Given the description of an element on the screen output the (x, y) to click on. 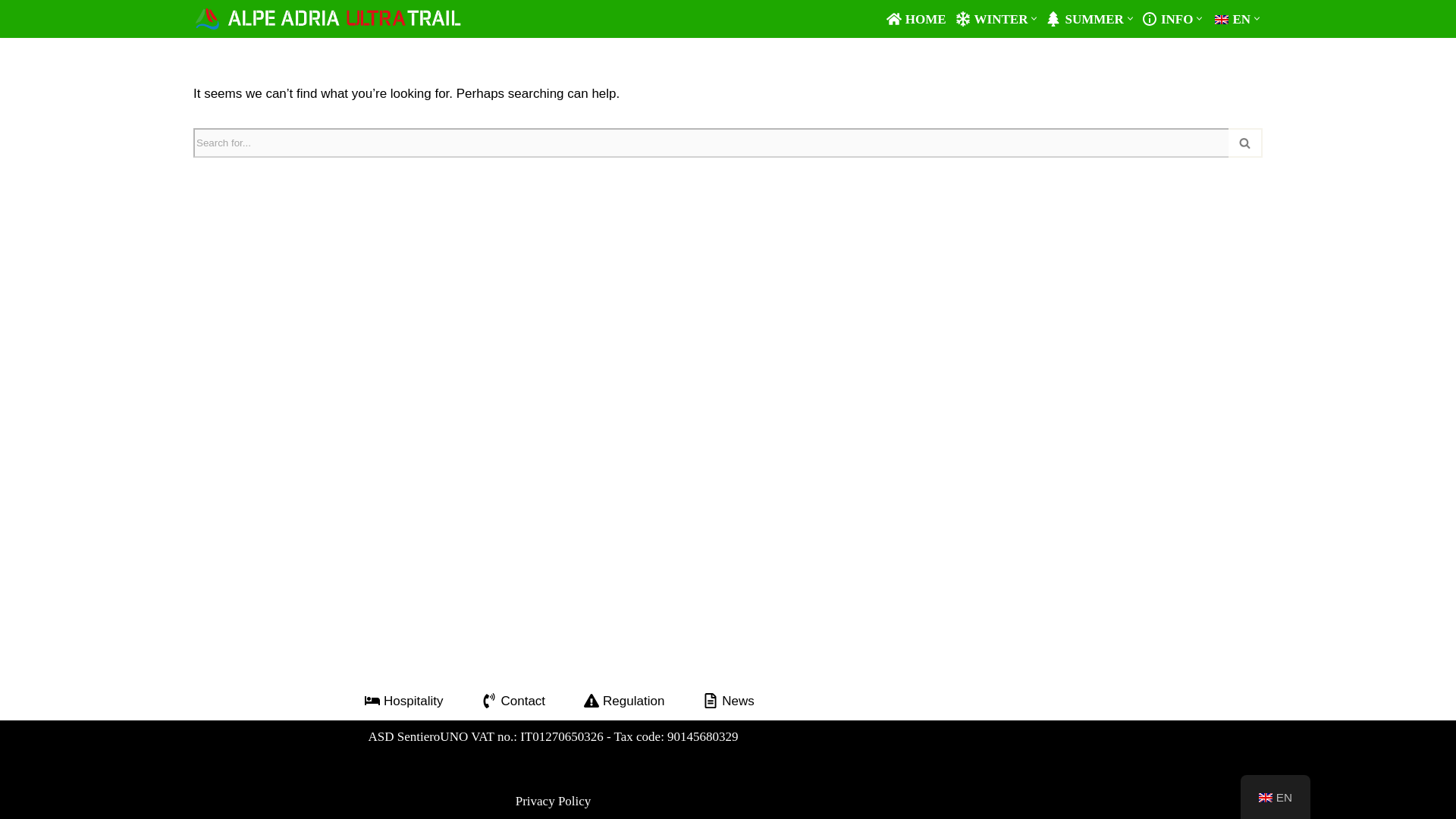
WINTER (991, 18)
Vai al contenuto (11, 31)
English (1265, 797)
English (1221, 19)
EN (1230, 18)
INFO (1167, 18)
HOME (916, 18)
SUMMER (1083, 18)
Privacy Policy  (553, 800)
